Given the description of an element on the screen output the (x, y) to click on. 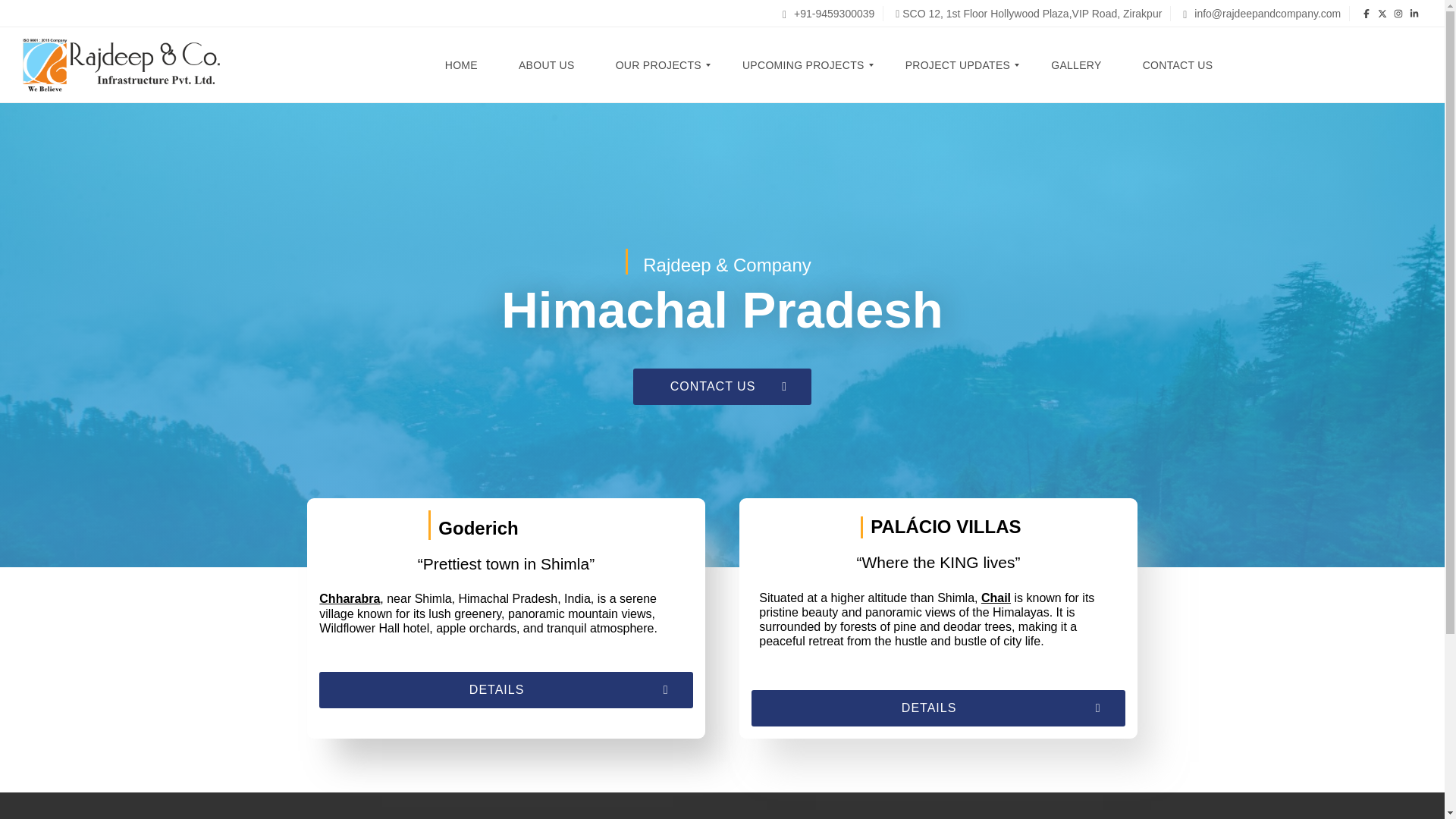
GALLERY (1075, 65)
PROJECT UPDATES (957, 65)
DETAILS (937, 735)
Rajdeep and Company (121, 65)
UPCOMING PROJECTS (803, 65)
CONTACT US (721, 386)
CONTACT US (1177, 65)
ABOUT US (546, 65)
OUR PROJECTS (658, 65)
DETAILS (505, 721)
